Given the description of an element on the screen output the (x, y) to click on. 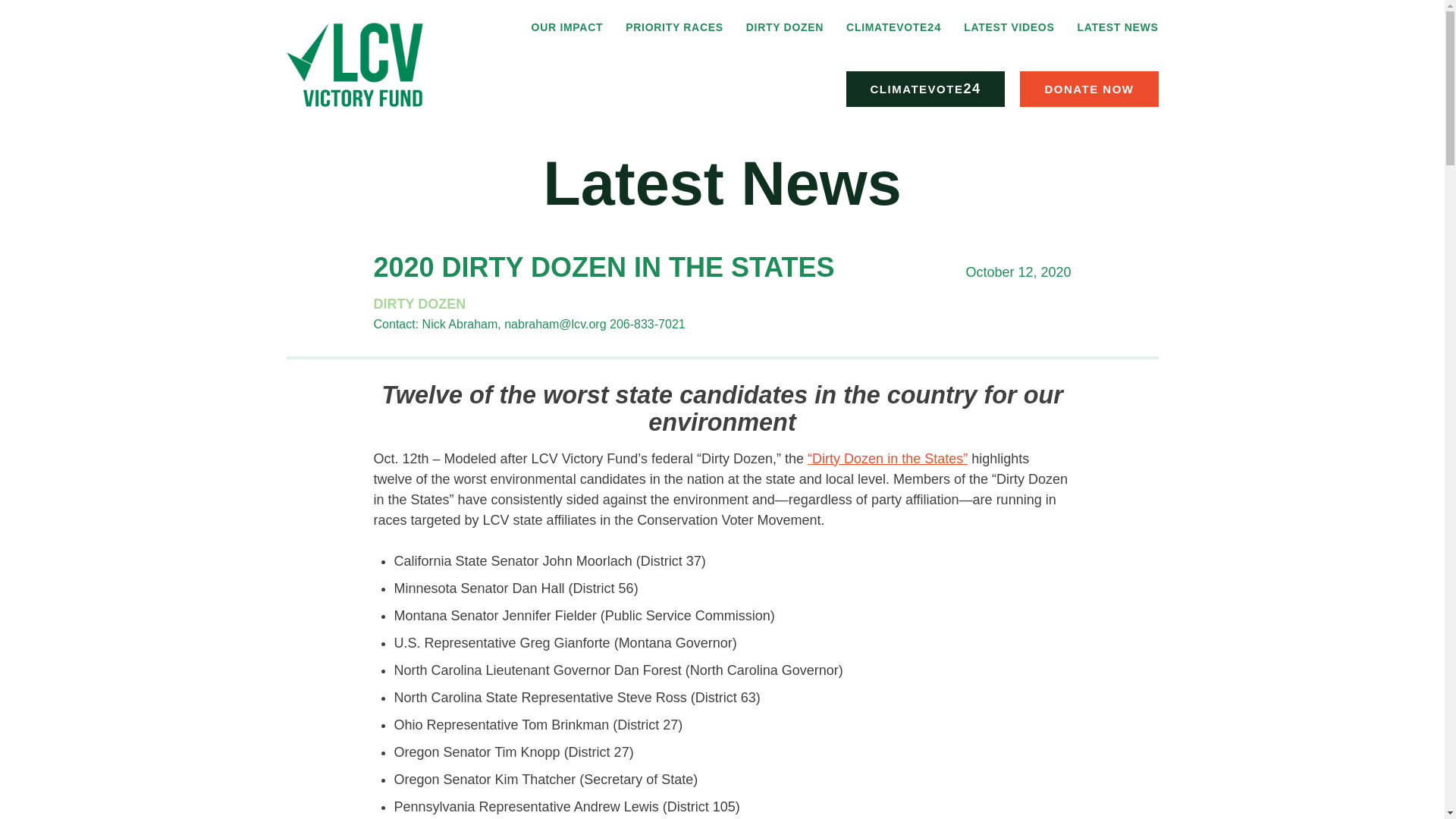
OUR IMPACT (567, 27)
LATEST VIDEOS (1008, 27)
CLIMATEVOTE24 (892, 27)
LATEST NEWS (1117, 27)
DIRTY DOZEN (784, 27)
PRIORITY RACES (674, 27)
DONATE NOW (1088, 89)
DIRTY DOZEN (418, 304)
CLIMATEVOTE24 (925, 89)
